Given the description of an element on the screen output the (x, y) to click on. 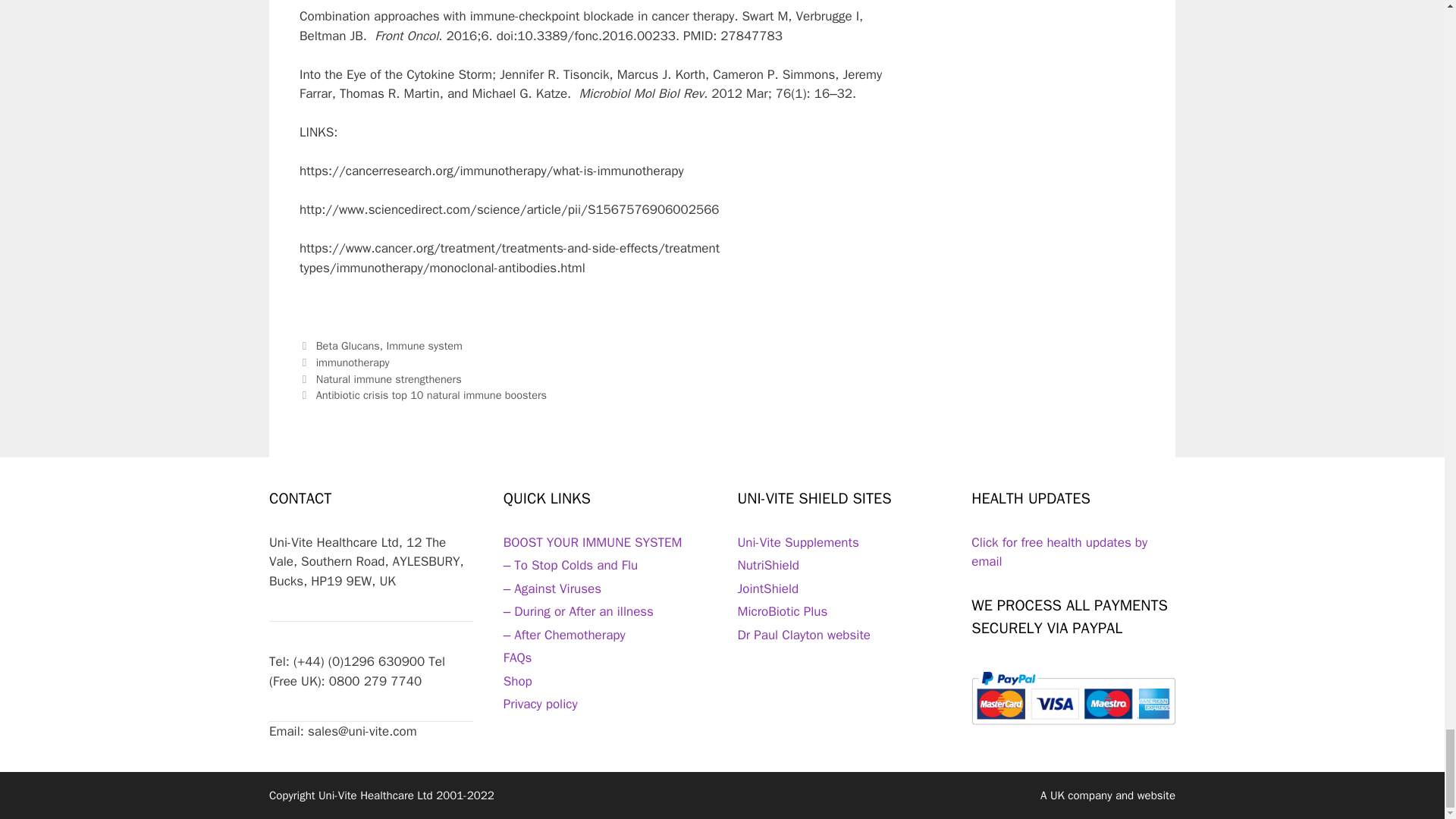
Beta Glucans (347, 345)
immunotherapy (352, 362)
Antibiotic crisis top 10 natural immune boosters (431, 395)
BOOST YOUR IMMUNE SYSTEM (592, 542)
Natural immune strengtheners (388, 378)
Immune system (425, 345)
